Given the description of an element on the screen output the (x, y) to click on. 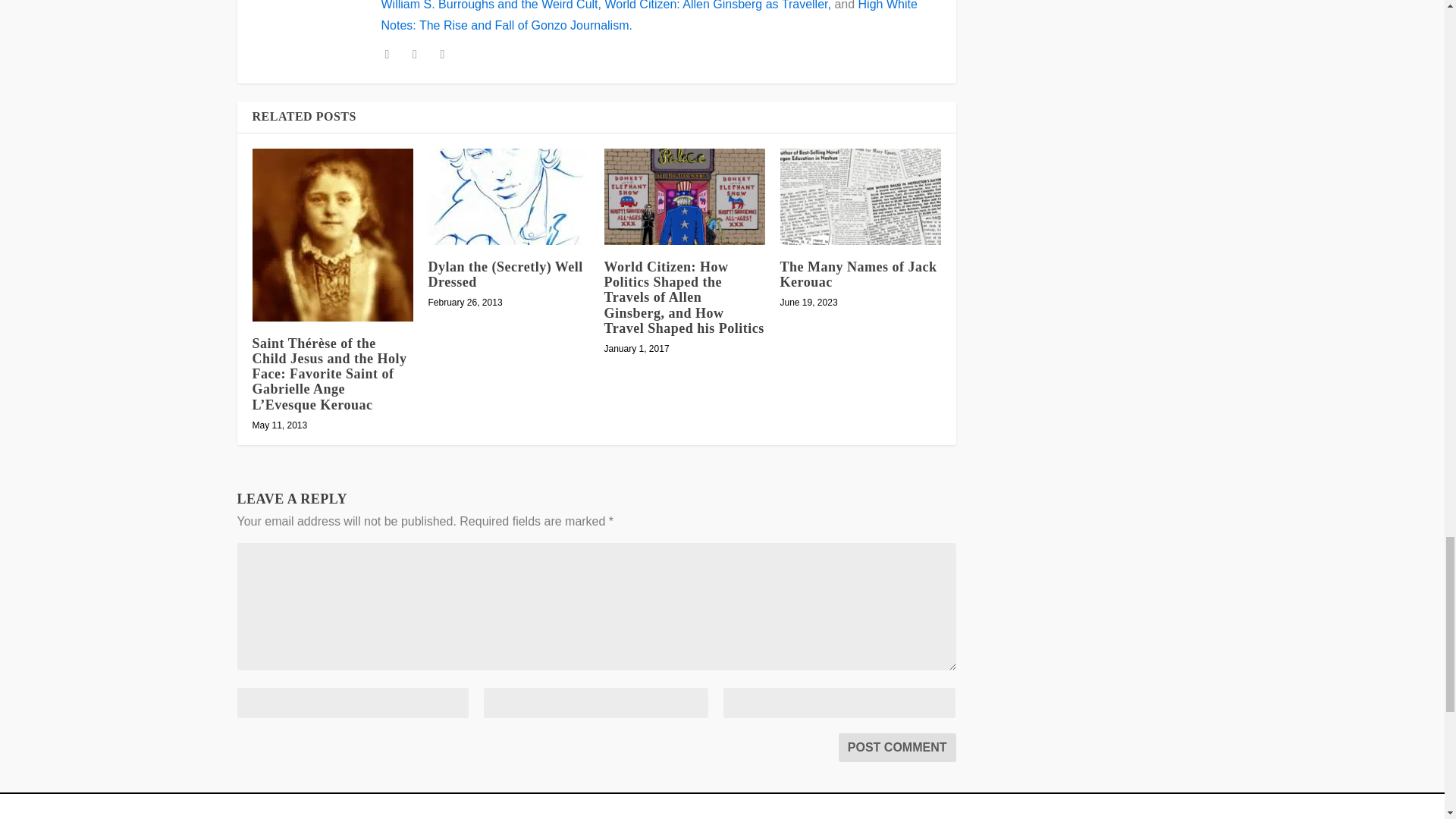
Post Comment (897, 747)
The Many Names of Jack Kerouac (859, 196)
